Given the description of an element on the screen output the (x, y) to click on. 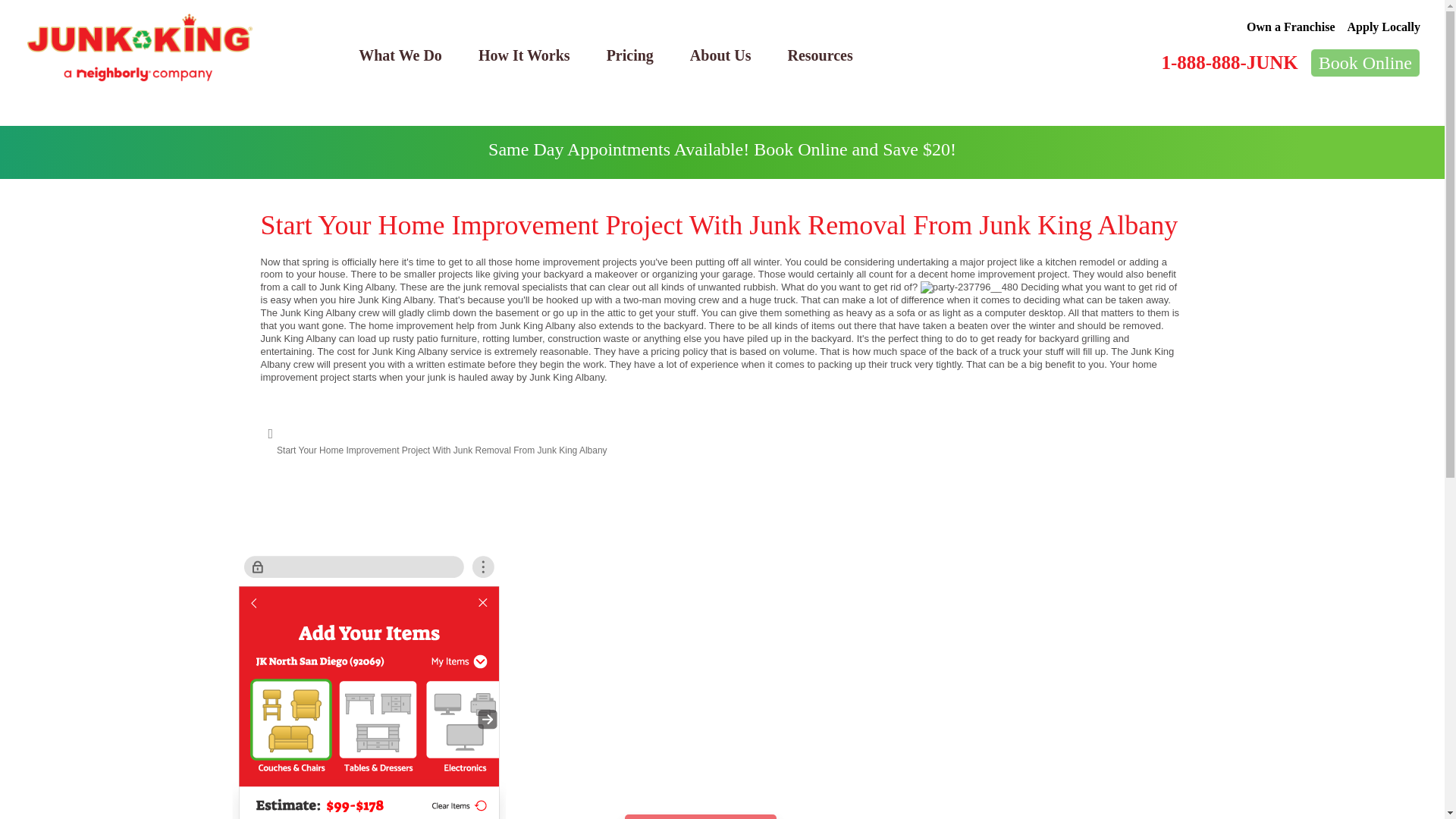
Junk King (139, 47)
Apply Locally (1384, 27)
How It Works (524, 54)
About Us (720, 54)
phone (368, 683)
Book Online (1365, 62)
1-888-888-JUNK (1228, 62)
What We Do (400, 54)
Pricing (629, 54)
Banner Pane (721, 152)
Resources (819, 54)
Own a Franchise (1290, 27)
